Given the description of an element on the screen output the (x, y) to click on. 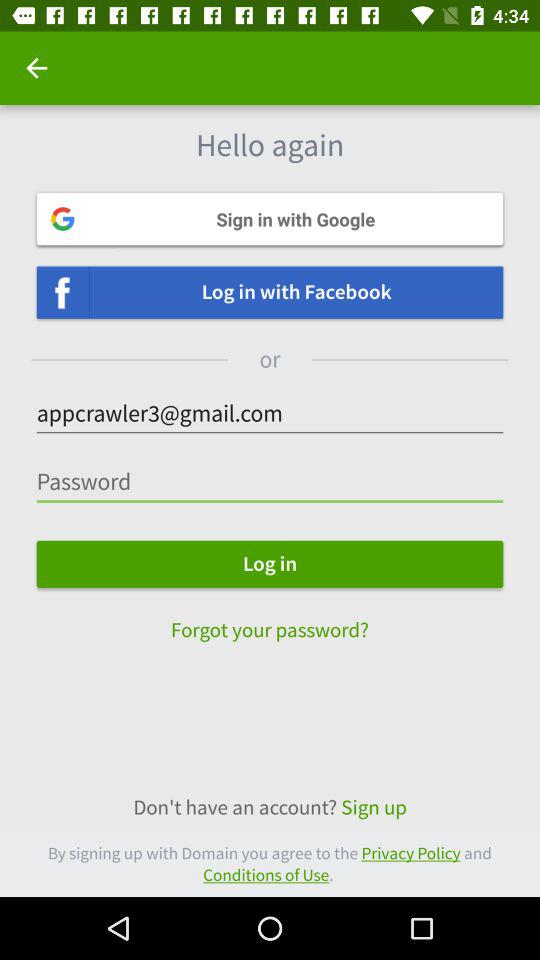
choose item below the or icon (269, 414)
